Given the description of an element on the screen output the (x, y) to click on. 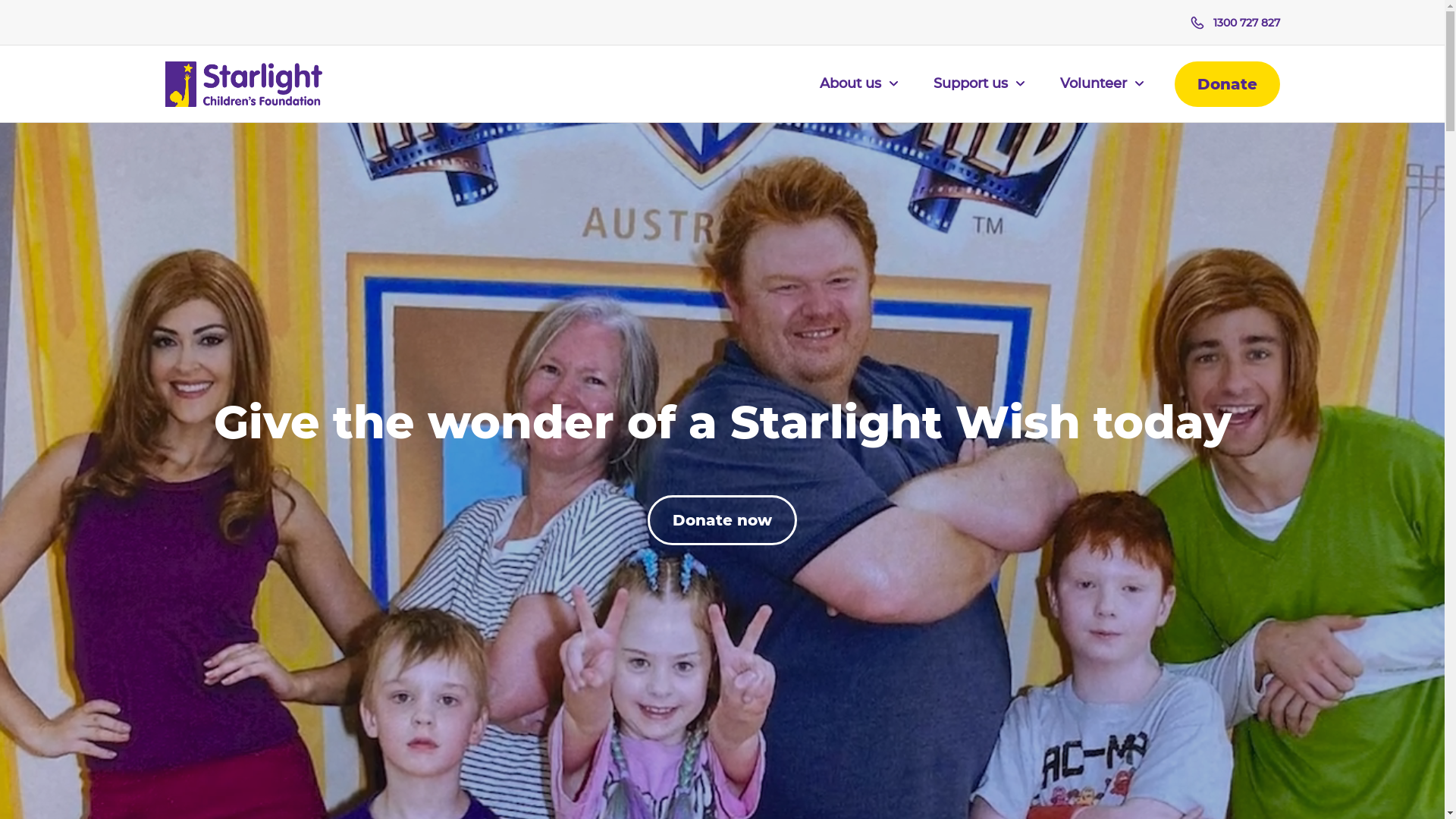
Healthier Futures Initiative Element type: text (722, 335)
Support us Element type: text (978, 91)
Donate Element type: text (1226, 83)
Our mission Element type: text (350, 183)
Starlight in hospital Element type: text (722, 244)
Our performance Element type: text (350, 274)
Our Stories
Inspiring tales of fun, support and courage Element type: text (1093, 259)
Donate now Element type: text (722, 520)
Safeguarding children & young people Element type: text (722, 365)
Who we are Element type: text (350, 153)
Our people Element type: text (350, 213)
What we do Element type: text (722, 153)
Our impact Element type: text (722, 183)
Our Reconciliation Action Plan Element type: text (350, 304)
About us Element type: text (858, 91)
Careers at Starlight Element type: text (350, 335)
Starlight Element type: hover (243, 83)
Livewire Element type: text (722, 274)
Volunteer Element type: text (1102, 91)
Captain Starlight Element type: text (722, 213)
Wishgranting Element type: text (722, 304)
1300 727 827 Element type: text (1235, 22)
Our partners Element type: text (350, 244)
